Given the description of an element on the screen output the (x, y) to click on. 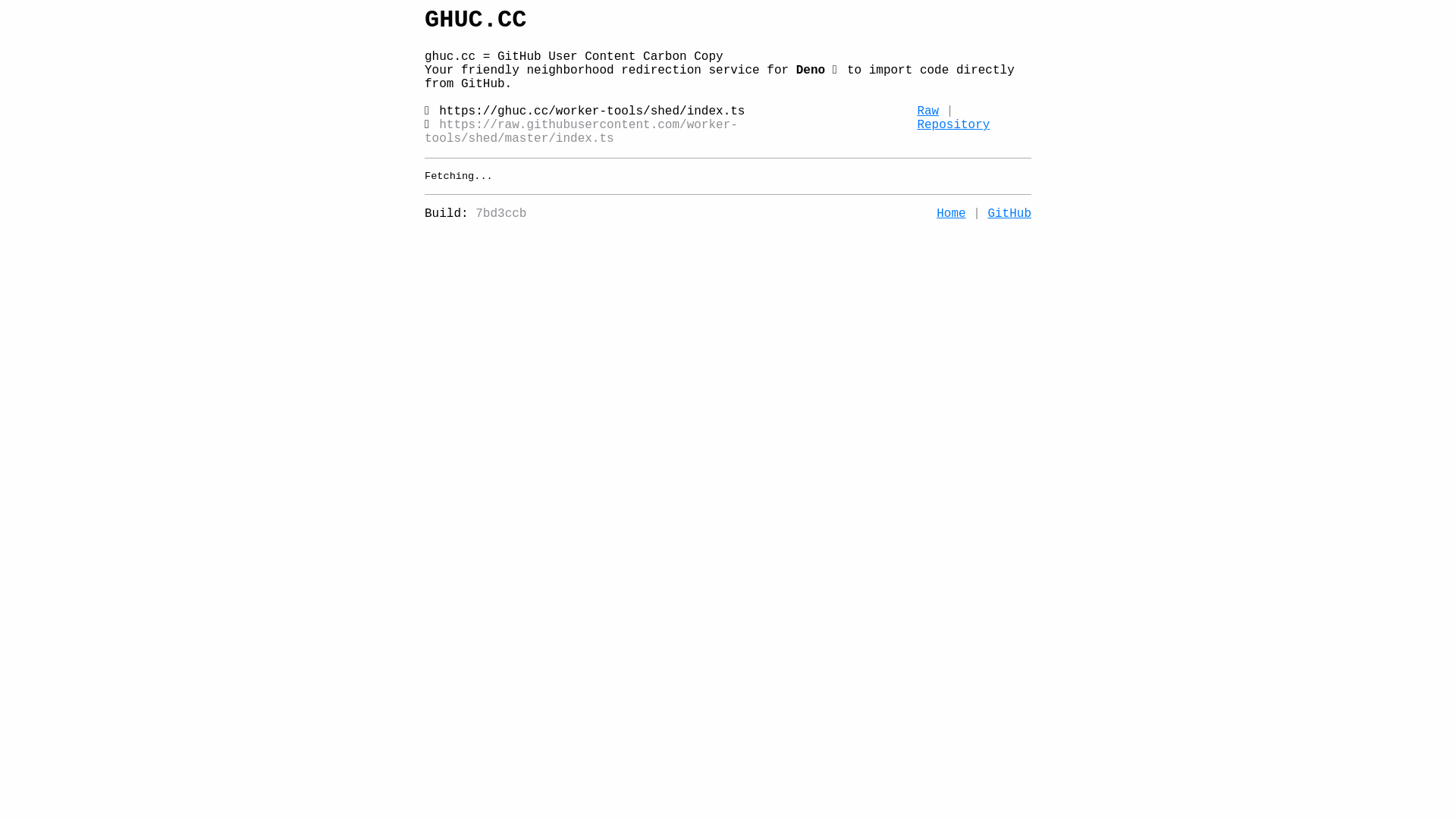
Raw Element type: text (927, 111)
GitHub Element type: text (1009, 213)
Home Element type: text (950, 213)
Repository Element type: text (952, 124)
